Given the description of an element on the screen output the (x, y) to click on. 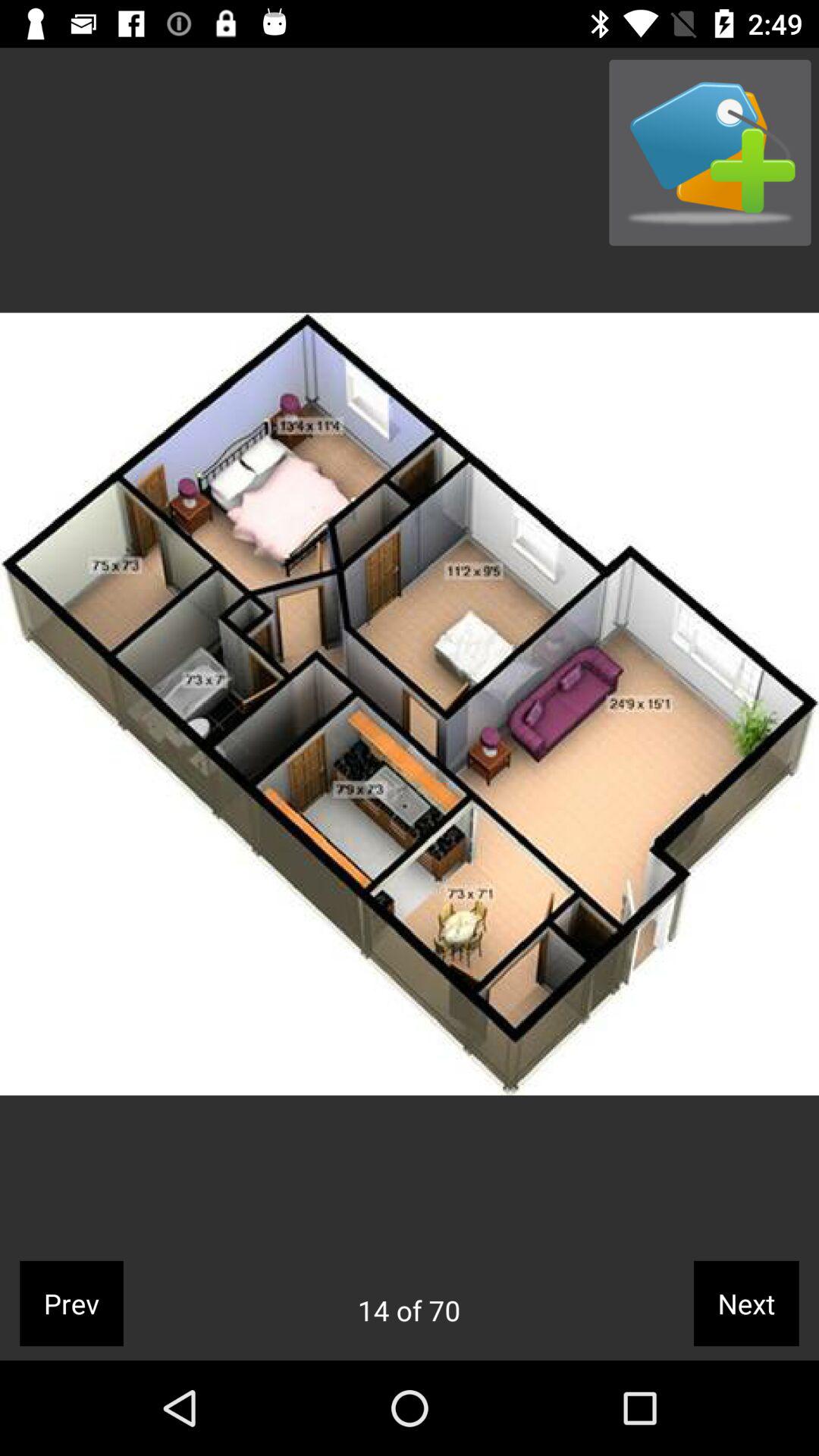
select the icon to the left of the 14 of 70 app (71, 1303)
